Given the description of an element on the screen output the (x, y) to click on. 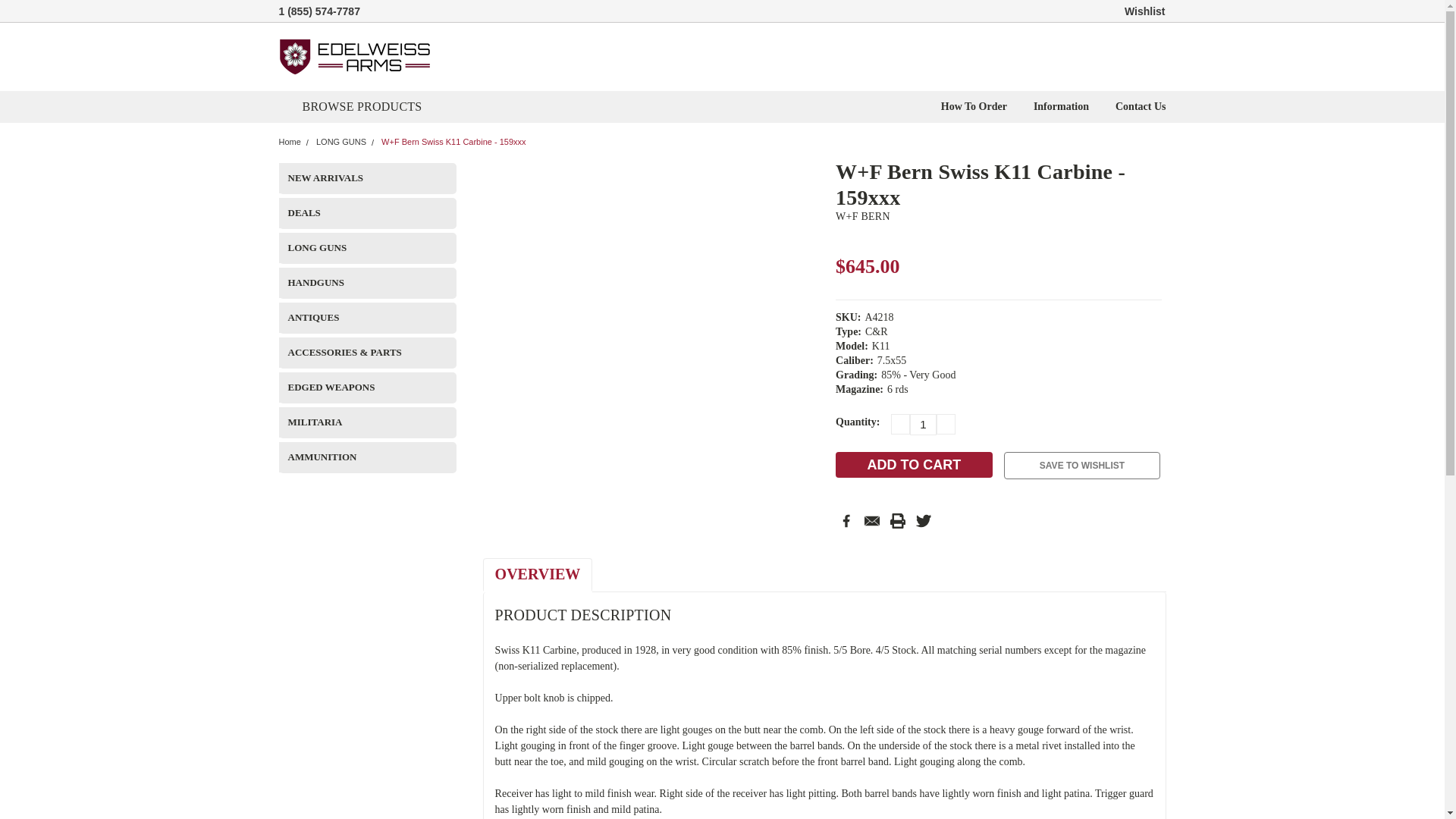
1 (923, 424)
Edelweiss Arms (354, 56)
Add to Cart (913, 464)
Print (897, 520)
Wishlist (1145, 10)
Twitter (923, 520)
Email (871, 520)
Facebook (845, 520)
